Given the description of an element on the screen output the (x, y) to click on. 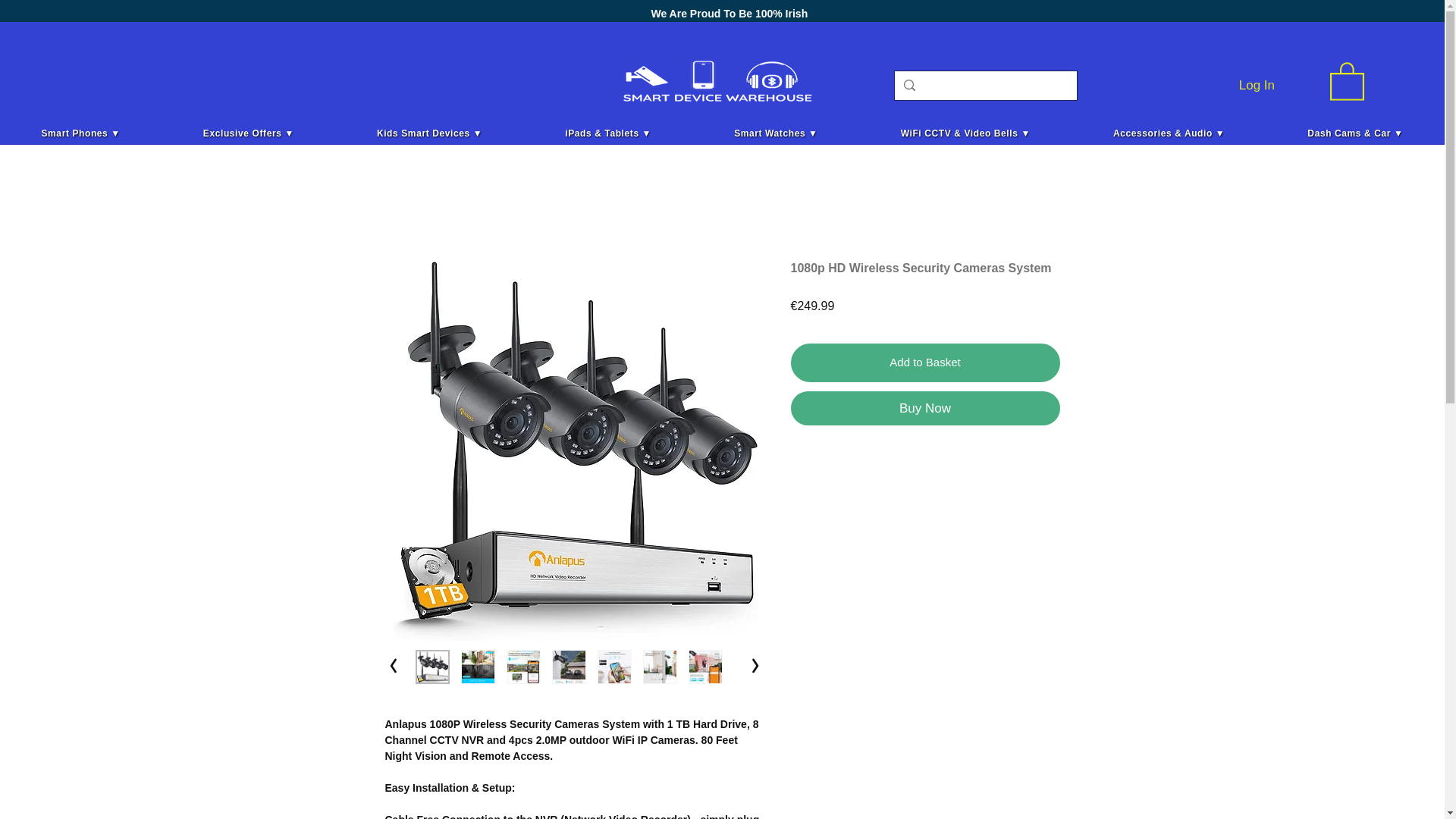
Homepage (714, 80)
Log In (1256, 84)
Add to Basket (924, 362)
Buy Now (924, 408)
